Given the description of an element on the screen output the (x, y) to click on. 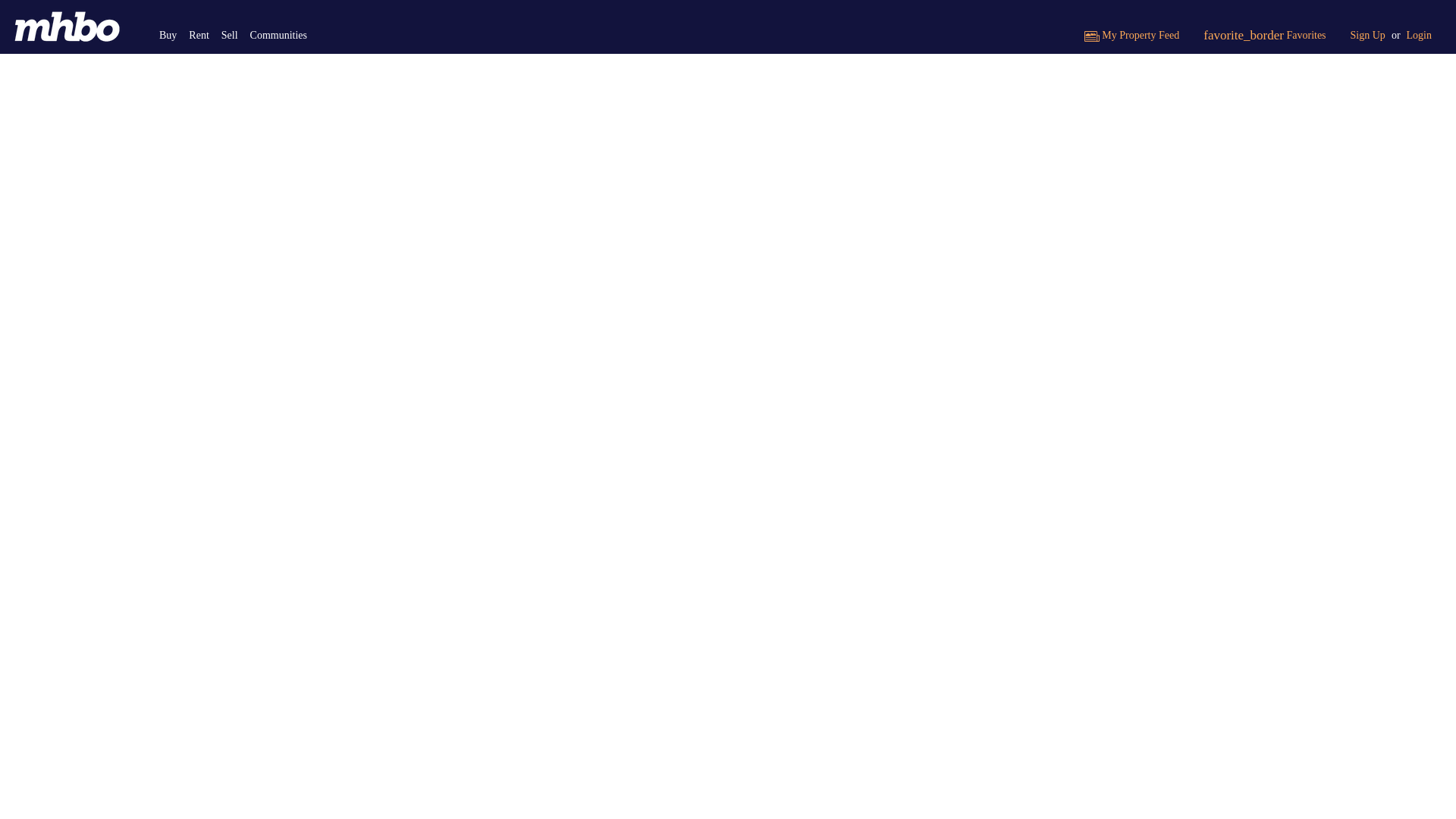
Rent (198, 35)
Login (1419, 35)
My Property Feed (1131, 35)
Sign Up (1367, 35)
Communities (278, 35)
Sell (229, 35)
Buy (167, 35)
